Given the description of an element on the screen output the (x, y) to click on. 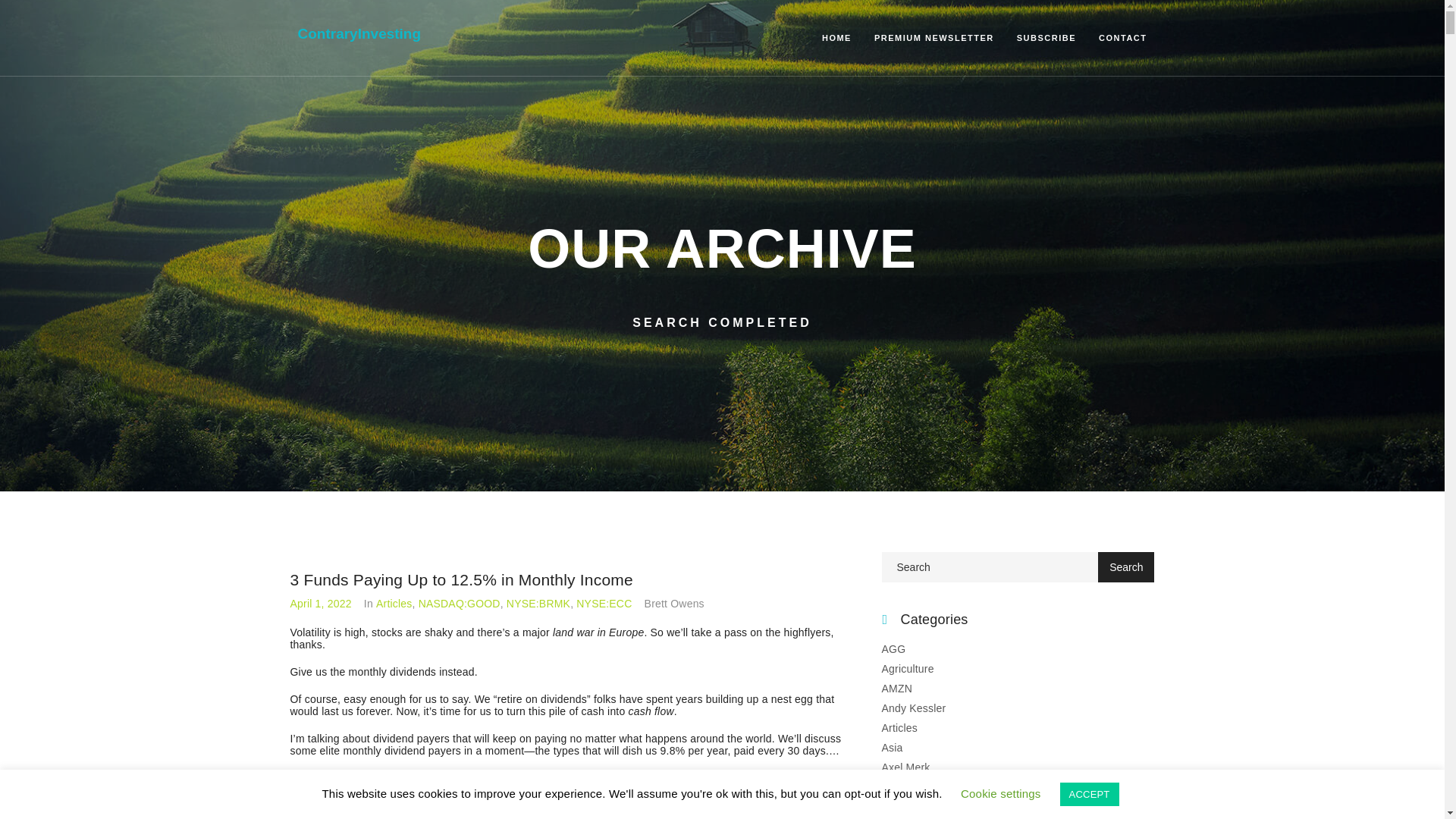
Axel Merk (905, 767)
SUBSCRIBE (1046, 37)
ContraryInvesting (358, 33)
Premium Newsletter (934, 37)
Subscribe (1046, 37)
HOME (836, 37)
April 1, 2022 (319, 603)
NYSE:ECC (603, 603)
Contact (1122, 37)
Asia (891, 747)
CONTACT (1122, 37)
AGG (892, 648)
Articles (393, 603)
NYSE:BRMK (538, 603)
Articles (898, 727)
